Given the description of an element on the screen output the (x, y) to click on. 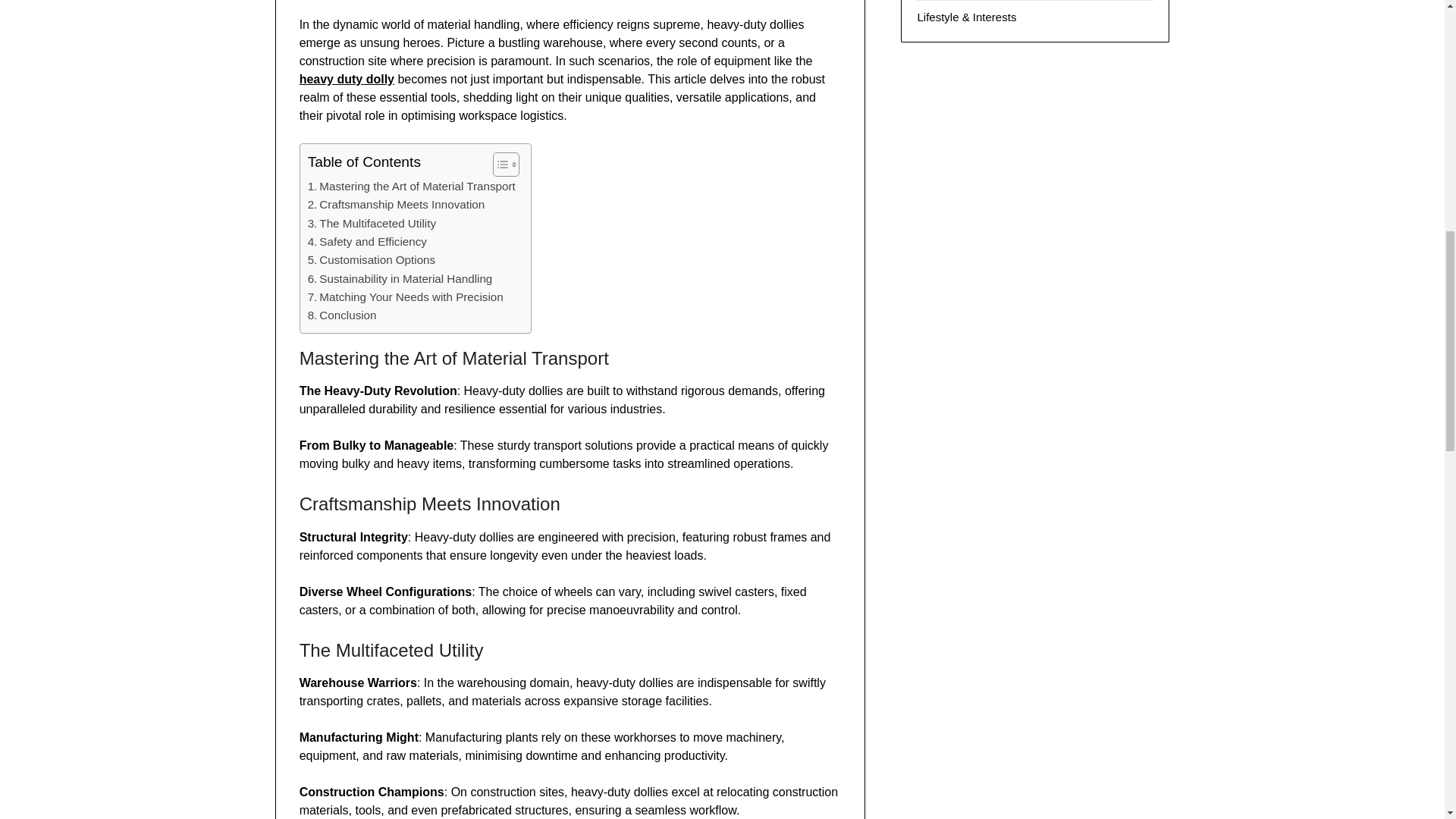
Craftsmanship Meets Innovation (395, 204)
The Multifaceted Utility (371, 223)
Conclusion (342, 315)
Conclusion (342, 315)
Customisation Options (371, 259)
Matching Your Needs with Precision (405, 297)
Craftsmanship Meets Innovation (395, 204)
heavy duty dolly (346, 78)
Customisation Options (371, 259)
Safety and Efficiency (366, 241)
Matching Your Needs with Precision (405, 297)
Sustainability in Material Handling (400, 279)
Mastering the Art of Material Transport (411, 186)
Sustainability in Material Handling (400, 279)
The Multifaceted Utility (371, 223)
